Given the description of an element on the screen output the (x, y) to click on. 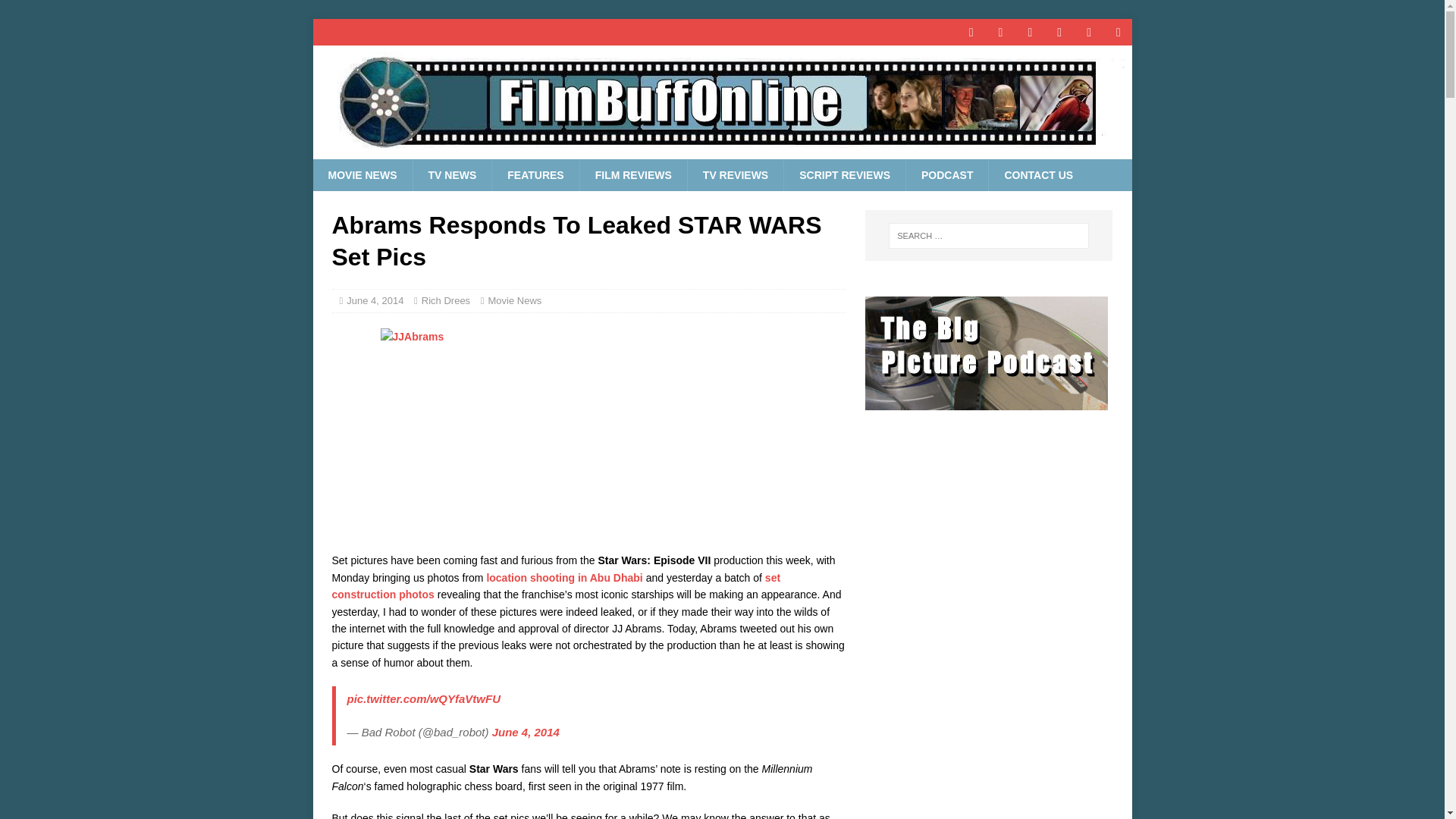
Movie News (514, 300)
FEATURES (535, 174)
June 4, 2014 (525, 731)
PODCAST (946, 174)
FILM REVIEWS (633, 174)
MOVIE NEWS (362, 174)
SCRIPT REVIEWS (844, 174)
Follow us on Instagram (1088, 31)
Rich Drees (446, 300)
CONTACT US (1037, 174)
